Given the description of an element on the screen output the (x, y) to click on. 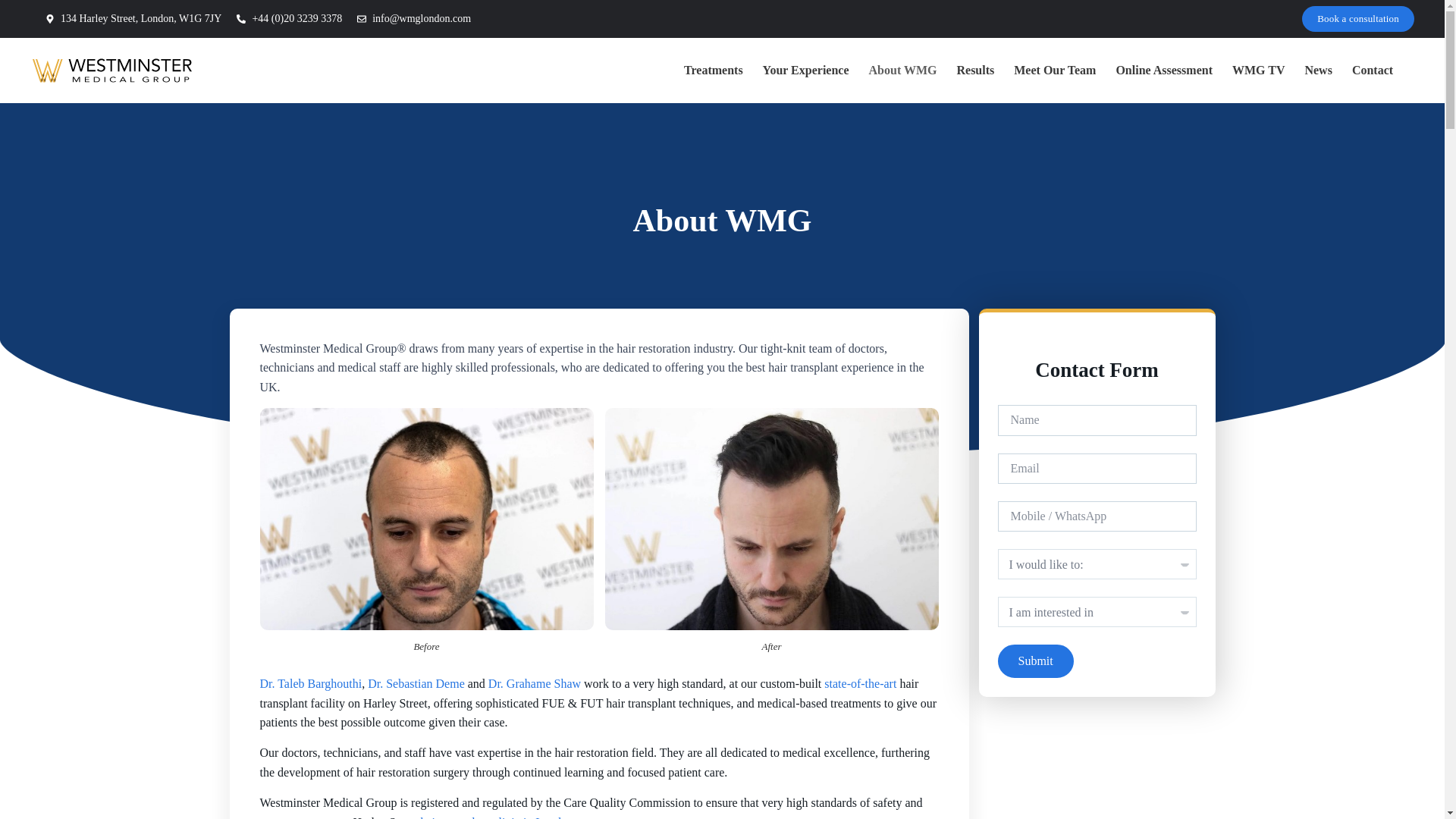
Results (975, 70)
Book a consultation (1357, 18)
WMG Logo (111, 70)
About WMG (902, 70)
About WMG 2 (772, 518)
Your Experience (805, 70)
Treatments (713, 70)
About WMG 1 (425, 518)
